Given the description of an element on the screen output the (x, y) to click on. 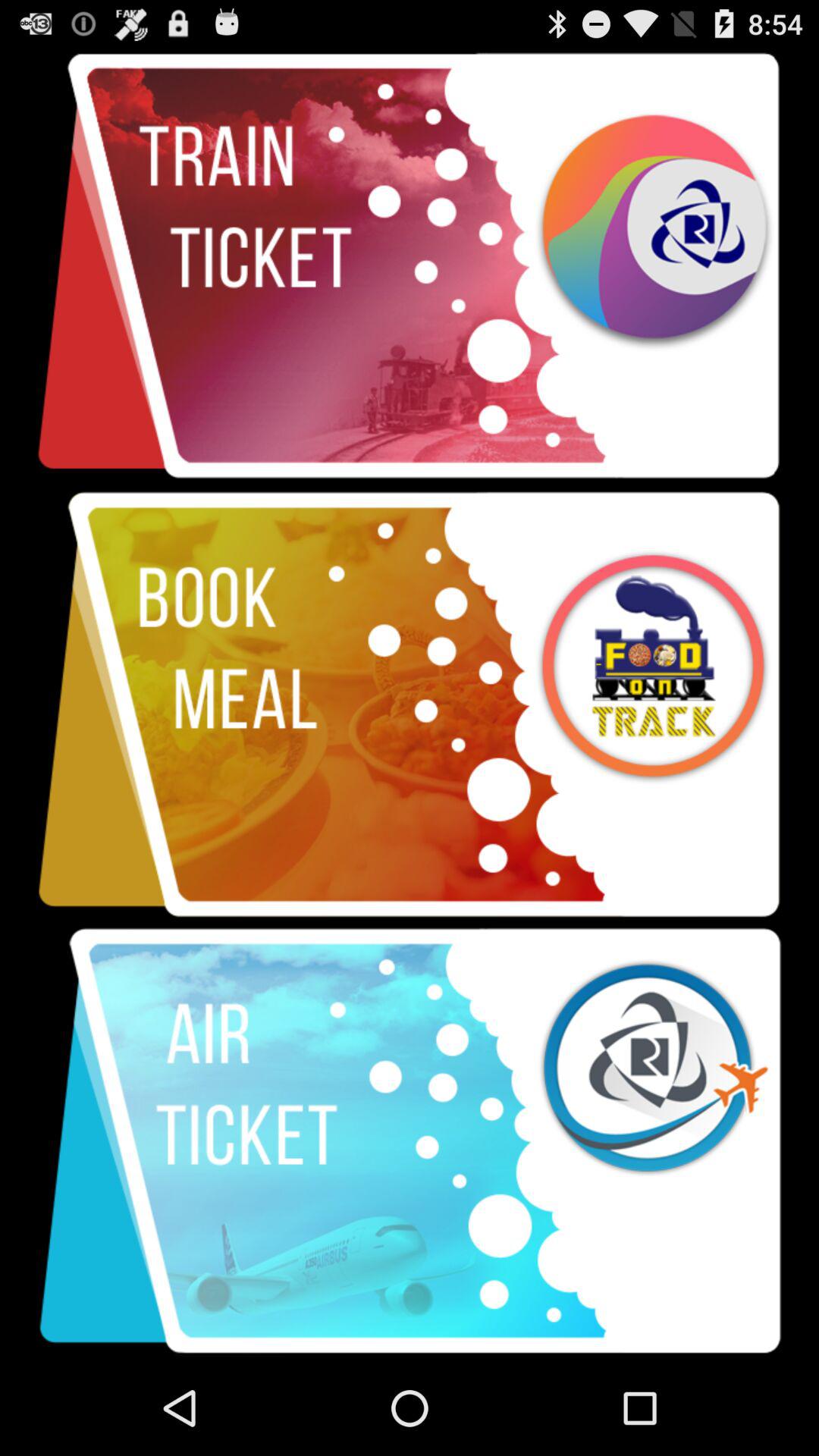
launch item at the center (409, 704)
